Given the description of an element on the screen output the (x, y) to click on. 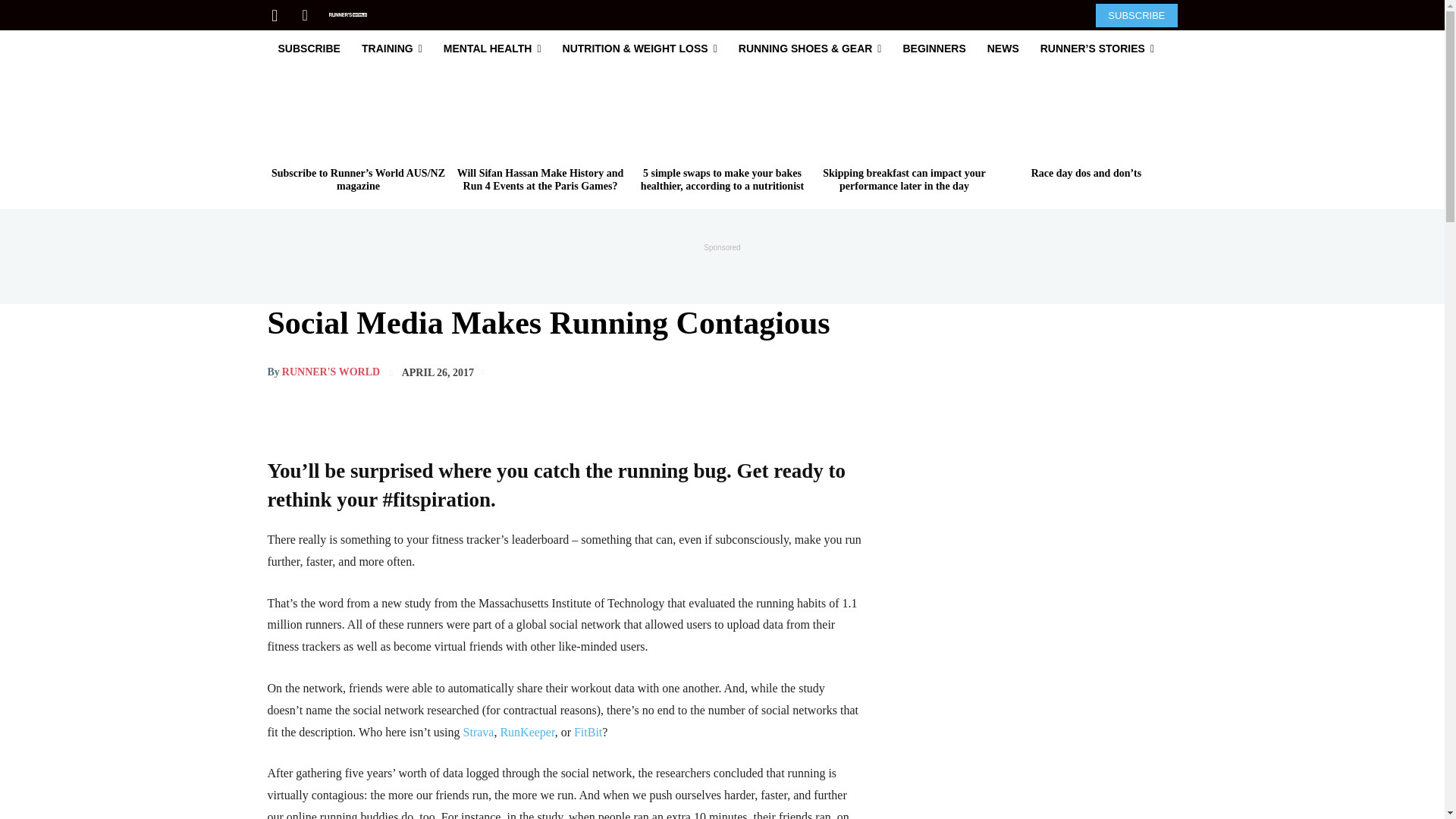
SUBSCRIBE (1136, 14)
